Given the description of an element on the screen output the (x, y) to click on. 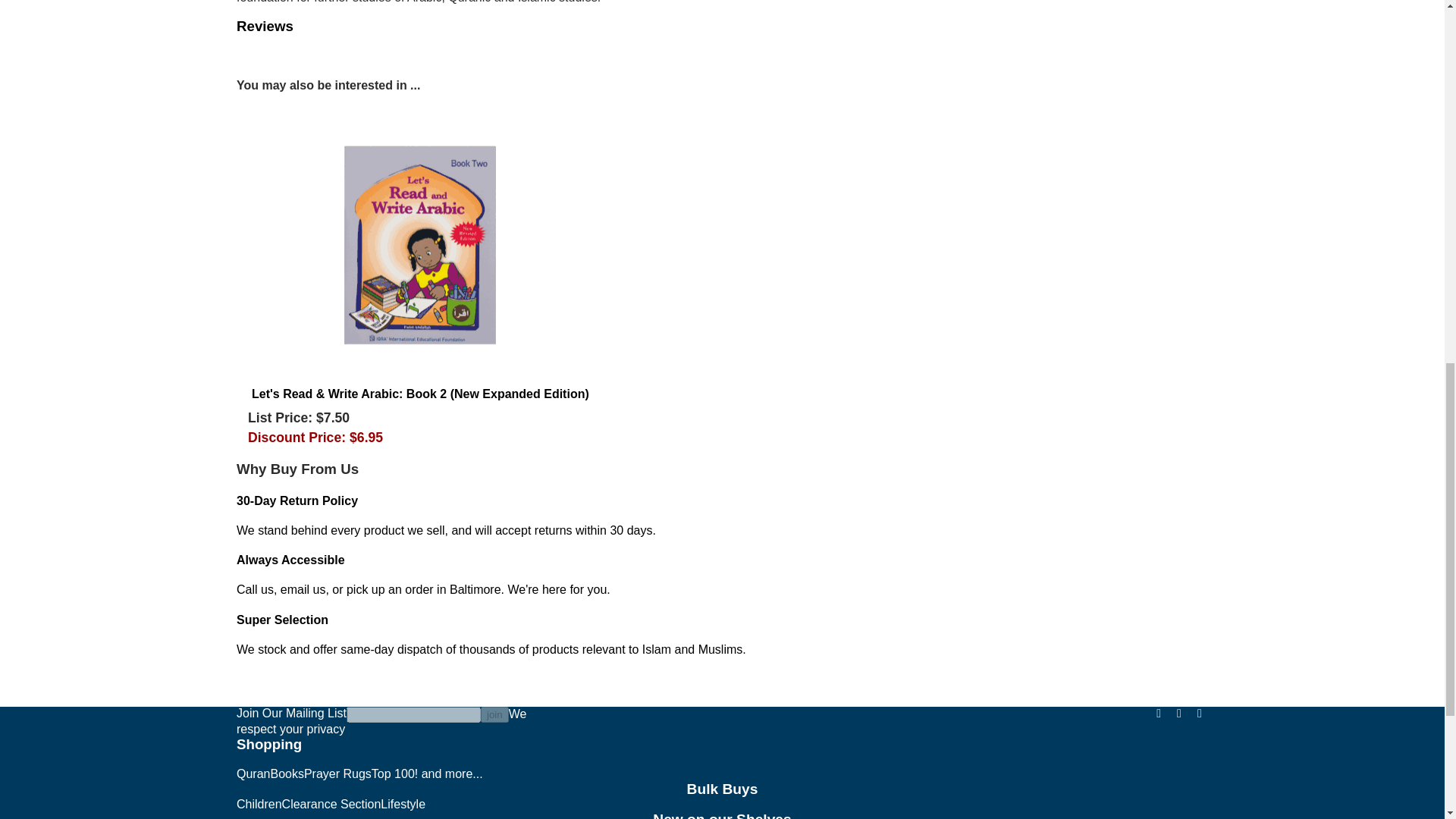
We respect your privacy (380, 721)
join (494, 714)
join (494, 714)
Reviews (264, 26)
